Given the description of an element on the screen output the (x, y) to click on. 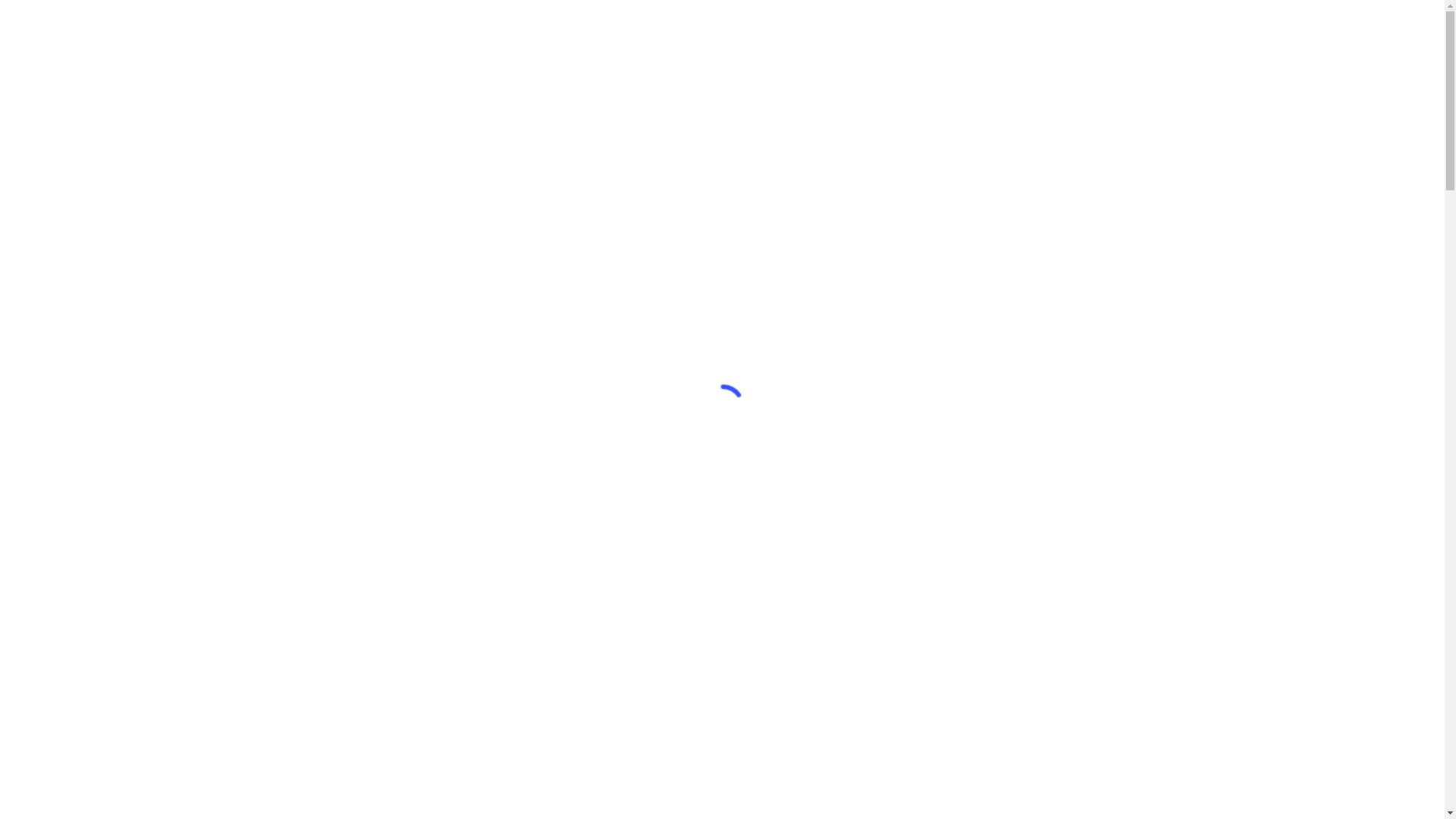
Features Element type: text (667, 28)
Videos Element type: text (859, 28)
Photo Gallery Element type: text (795, 28)
Sign Up Element type: text (530, 28)
The Lists Element type: text (910, 28)
twitter Element type: text (1090, 27)
facebook Element type: text (1114, 27)
Our Pubs Element type: text (725, 28)
search Element type: text (1202, 28)
instagram Element type: text (1165, 27)
pinterest Element type: text (1138, 27)
Digital Edition Element type: text (597, 28)
